Given the description of an element on the screen output the (x, y) to click on. 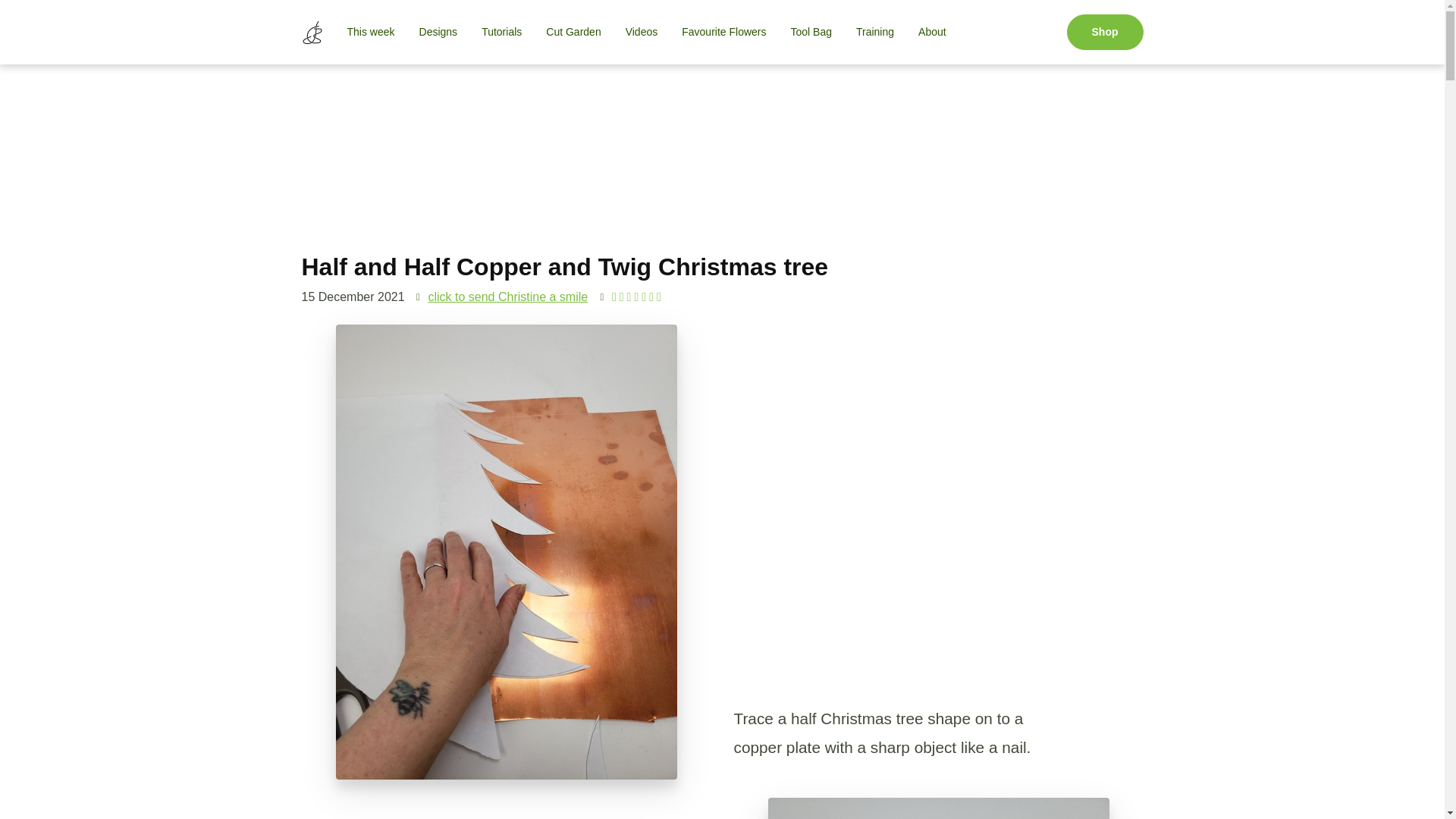
click to send Christine a smile (508, 296)
Tutorials (501, 32)
About (931, 32)
Designs (438, 32)
Videos (640, 32)
Try not to rest your hand on the copper (937, 808)
Tool Bag (810, 32)
Favourite Flowers (723, 32)
Training (874, 32)
Shop (1103, 31)
This week (370, 32)
Cut Garden (573, 32)
click to send Christine a smile (508, 296)
